Given the description of an element on the screen output the (x, y) to click on. 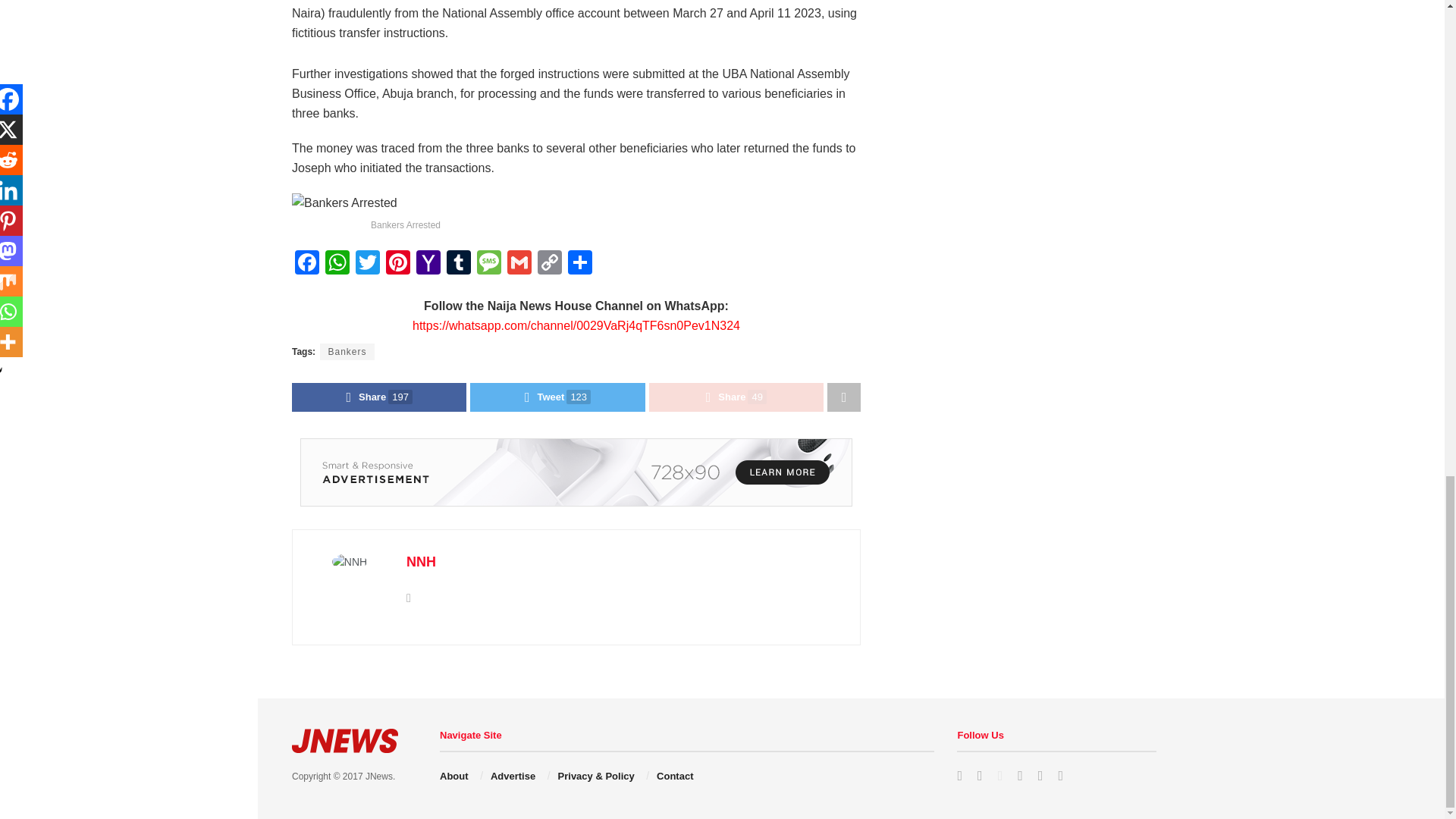
WhatsApp (336, 264)
Pinterest (397, 264)
Twitter (367, 264)
Facebook (306, 264)
